Given the description of an element on the screen output the (x, y) to click on. 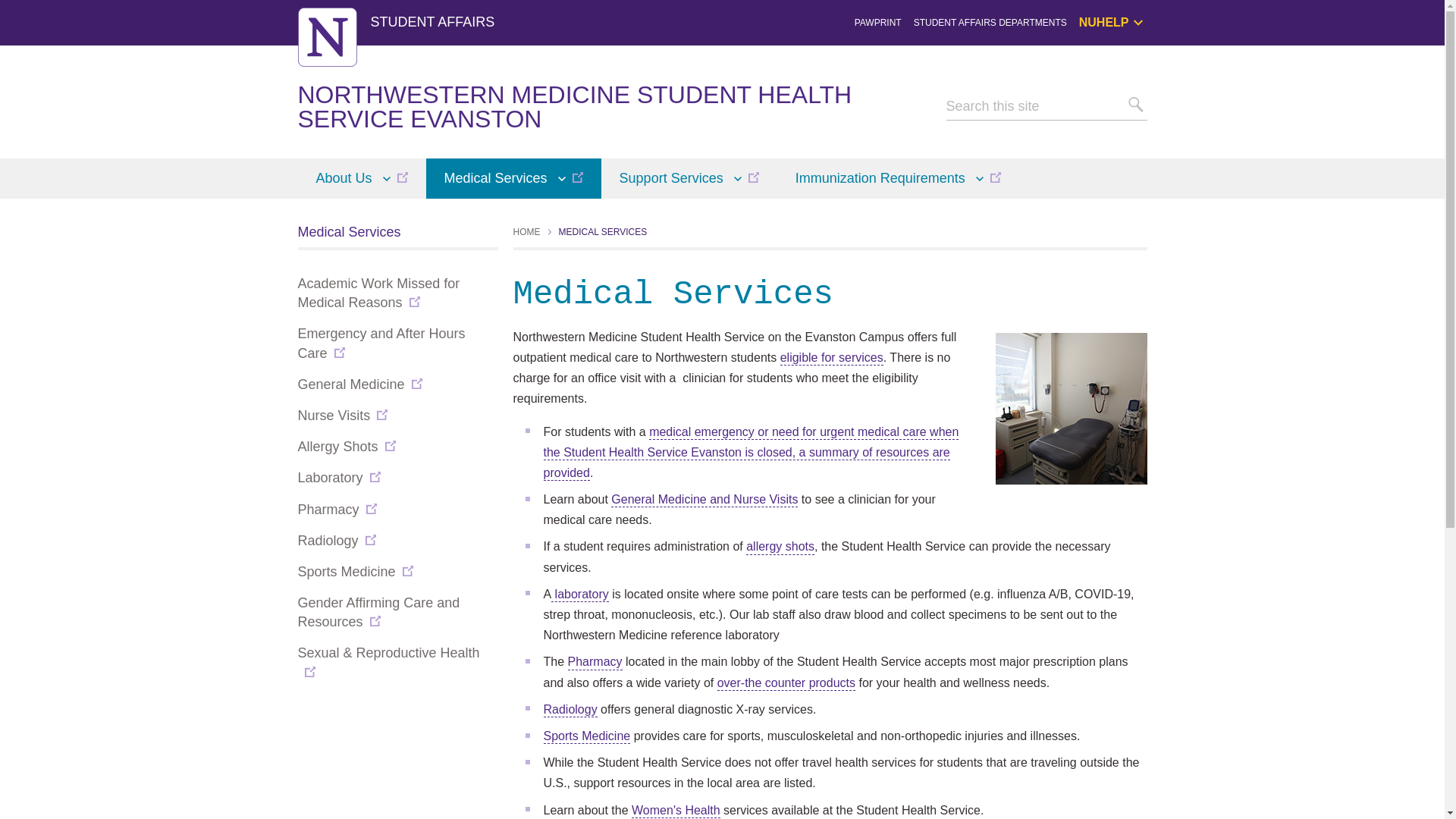
NORTHWESTERN MEDICINE STUDENT HEALTH SERVICE EVANSTON (574, 106)
STUDENT AFFAIRS DEPARTMENTS (990, 22)
Northwestern University Home (326, 36)
NUhelp Home Page (1163, 56)
STUDENT AFFAIRS (432, 21)
Get Help Now (1163, 72)
PAWPRINT (877, 22)
Self Care (1163, 107)
1:1 Support (1163, 90)
Safety (1163, 125)
